Given the description of an element on the screen output the (x, y) to click on. 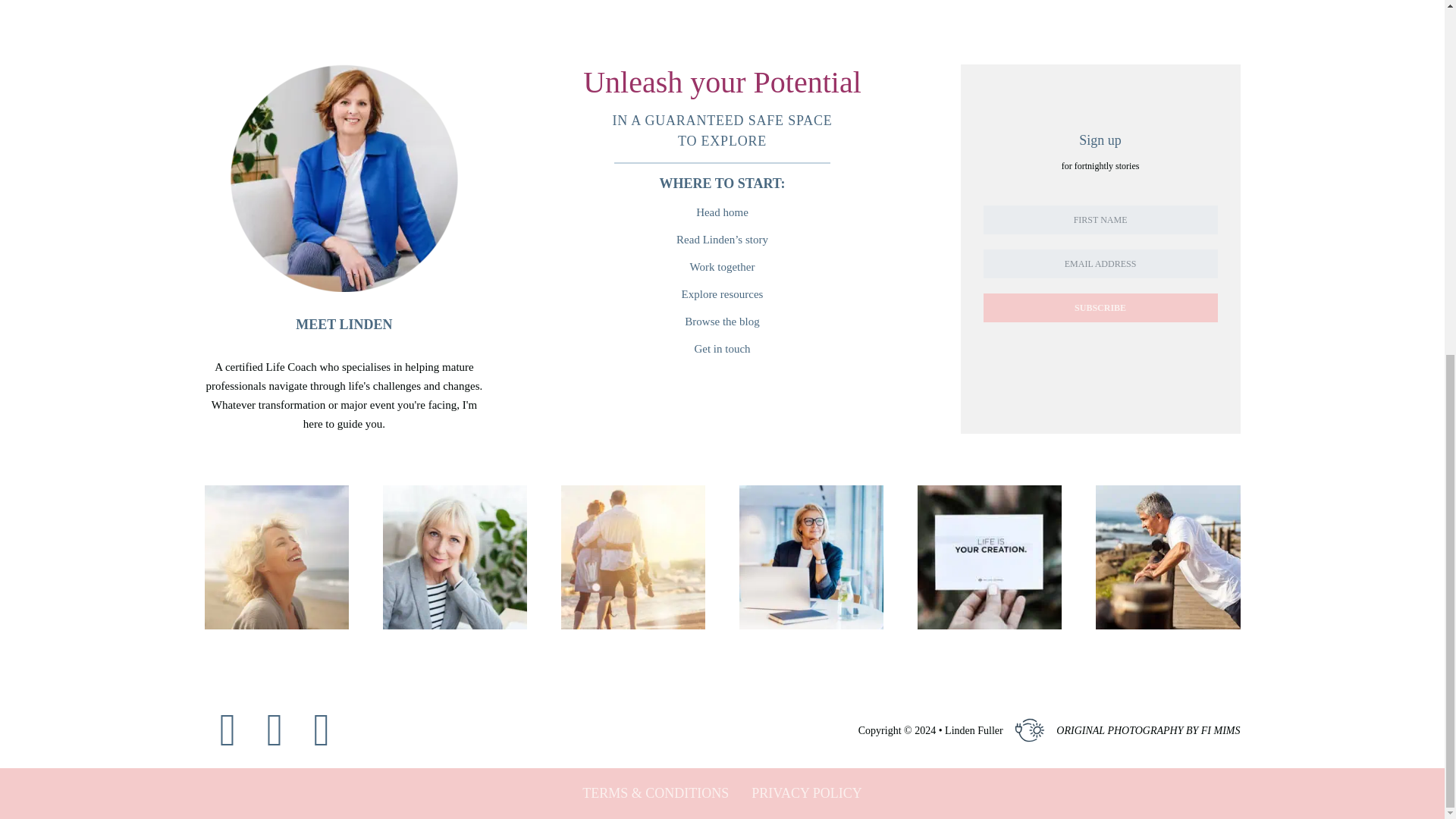
Work together (722, 267)
Explore resources (722, 294)
Head home (722, 212)
Browse the blog (722, 321)
Get in touch (722, 348)
SUBSCRIBE (1100, 307)
PRIVACY POLICY (806, 792)
